Given the description of an element on the screen output the (x, y) to click on. 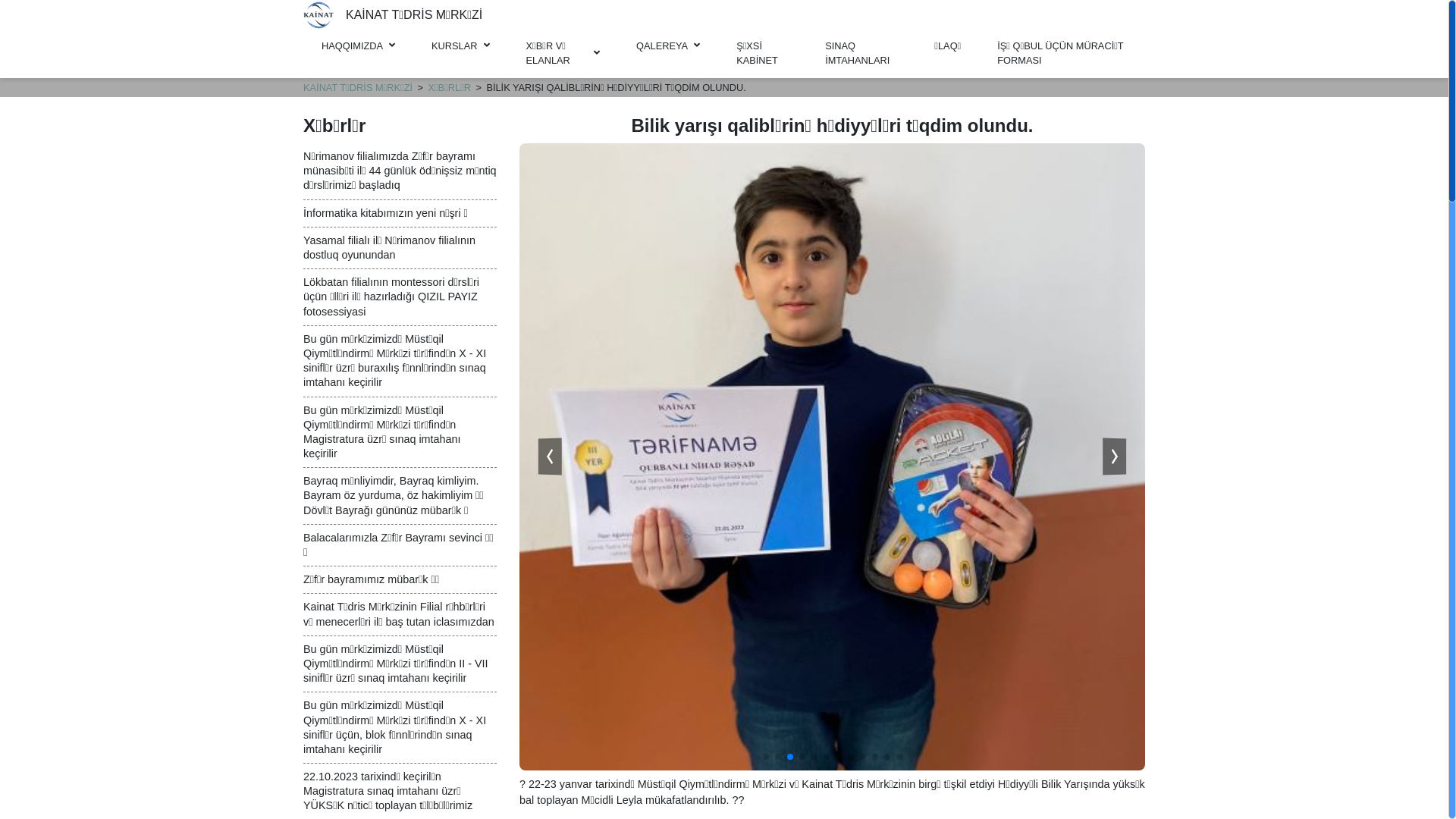
KURSLAR Element type: text (460, 45)
HAQQIMIZDA Element type: text (358, 45)
QALEREYA Element type: text (667, 45)
SINAQ IMTAHANLARI Element type: text (861, 52)
